Given the description of an element on the screen output the (x, y) to click on. 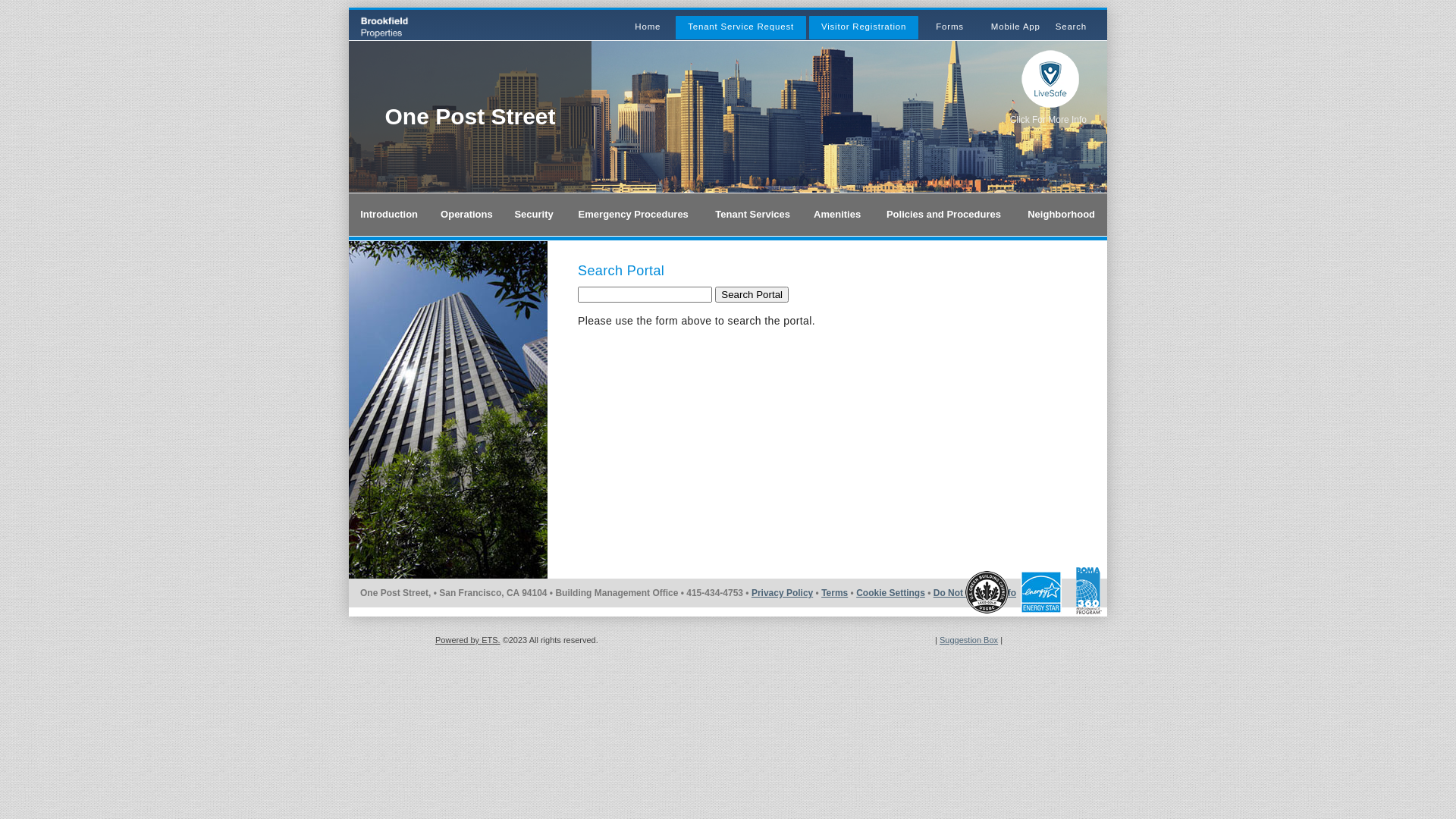
Mobile App Element type: text (1015, 26)
Home Element type: text (647, 26)
Powered by ETS. Element type: text (467, 639)
Suggestion Box Element type: text (968, 639)
Cookie Settings Element type: text (890, 592)
Forms Element type: text (949, 26)
Search Element type: text (1070, 26)
Click For More Info Element type: text (1048, 119)
Privacy Policy Element type: text (781, 592)
Terms Element type: text (834, 592)
Search Portal Element type: text (751, 294)
Do Not Sell My Info Element type: text (974, 592)
Visitor Registration Element type: text (863, 26)
Tenant Service Request Element type: text (740, 26)
